Given the description of an element on the screen output the (x, y) to click on. 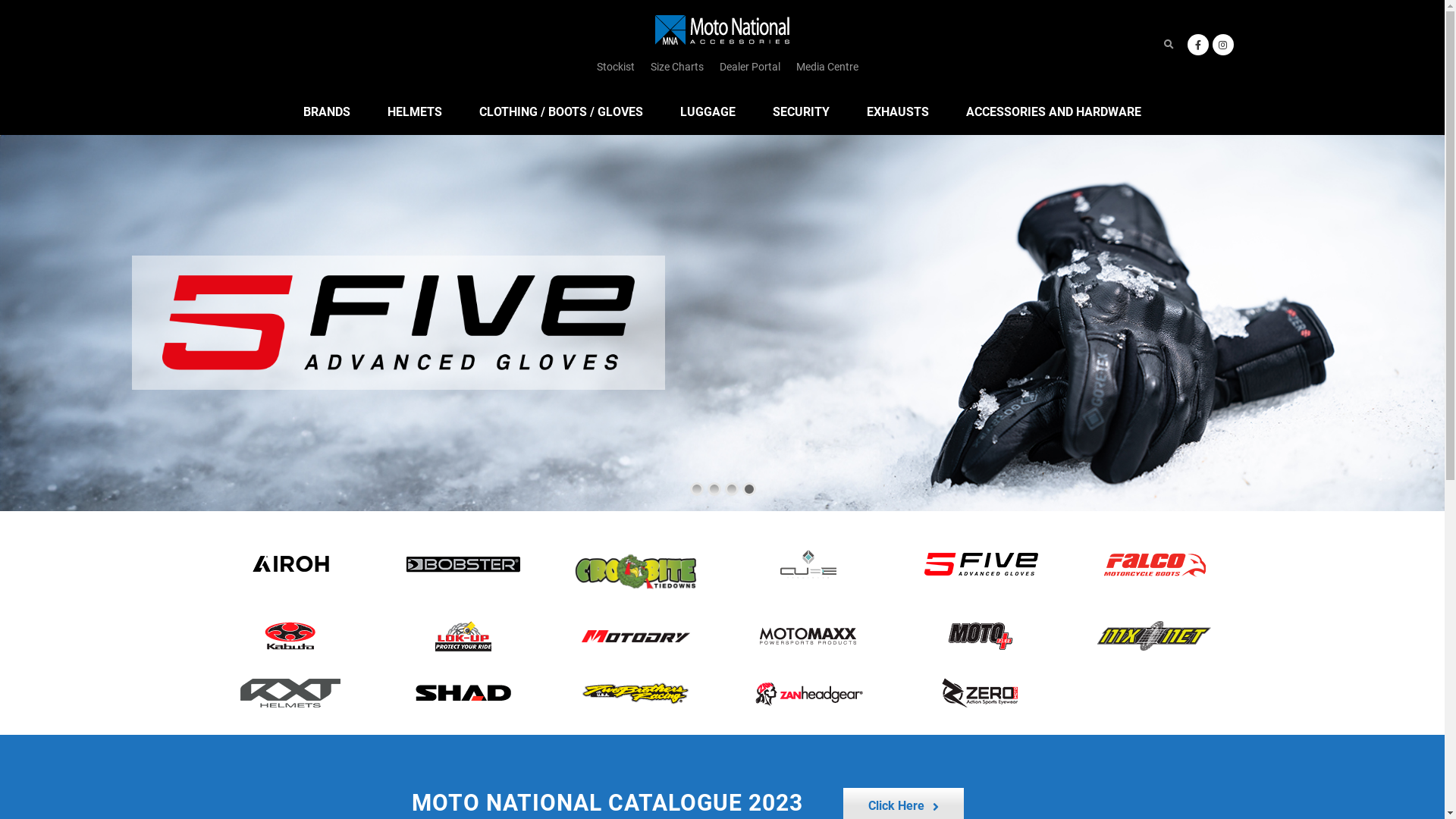
rxthelmet Element type: hover (290, 692)
motoplus Element type: hover (981, 636)
luk-up Element type: hover (463, 636)
zenheadgear Element type: hover (808, 692)
five-gloves-logo Element type: hover (981, 564)
BRANDS Element type: text (326, 111)
LUGGAGE Element type: text (707, 111)
Facebook Element type: hover (1197, 43)
SECURITY Element type: text (800, 111)
CLOTHING / BOOTS / GLOVES Element type: text (561, 111)
kabuto Element type: hover (290, 636)
Size Charts Element type: text (676, 67)
ACCESSORIES AND HARDWARE Element type: text (1053, 111)
HELMETS Element type: text (414, 111)
Instagram Element type: hover (1222, 43)
Stockist Element type: text (615, 67)
Motodry Element type: hover (636, 636)
mx-net Element type: hover (1154, 636)
Media Centre Element type: text (827, 67)
Airoh-logo-black Element type: hover (290, 564)
Bobstar Element type: hover (463, 564)
zero Element type: hover (981, 692)
motomax Element type: hover (808, 636)
MOTO NATIONAL ACCESSORIES - MOTO NATIONAL ACCESSORIES Element type: hover (722, 30)
shadcases Element type: hover (463, 692)
cube Element type: hover (808, 564)
Dealer Portal Element type: text (749, 67)
Crocbite Logo_Smaller_WebIcon Element type: hover (635, 571)
falcoboot Element type: hover (1154, 564)
TBR-Racing Element type: hover (636, 692)
EXHAUSTS Element type: text (897, 111)
